Given the description of an element on the screen output the (x, y) to click on. 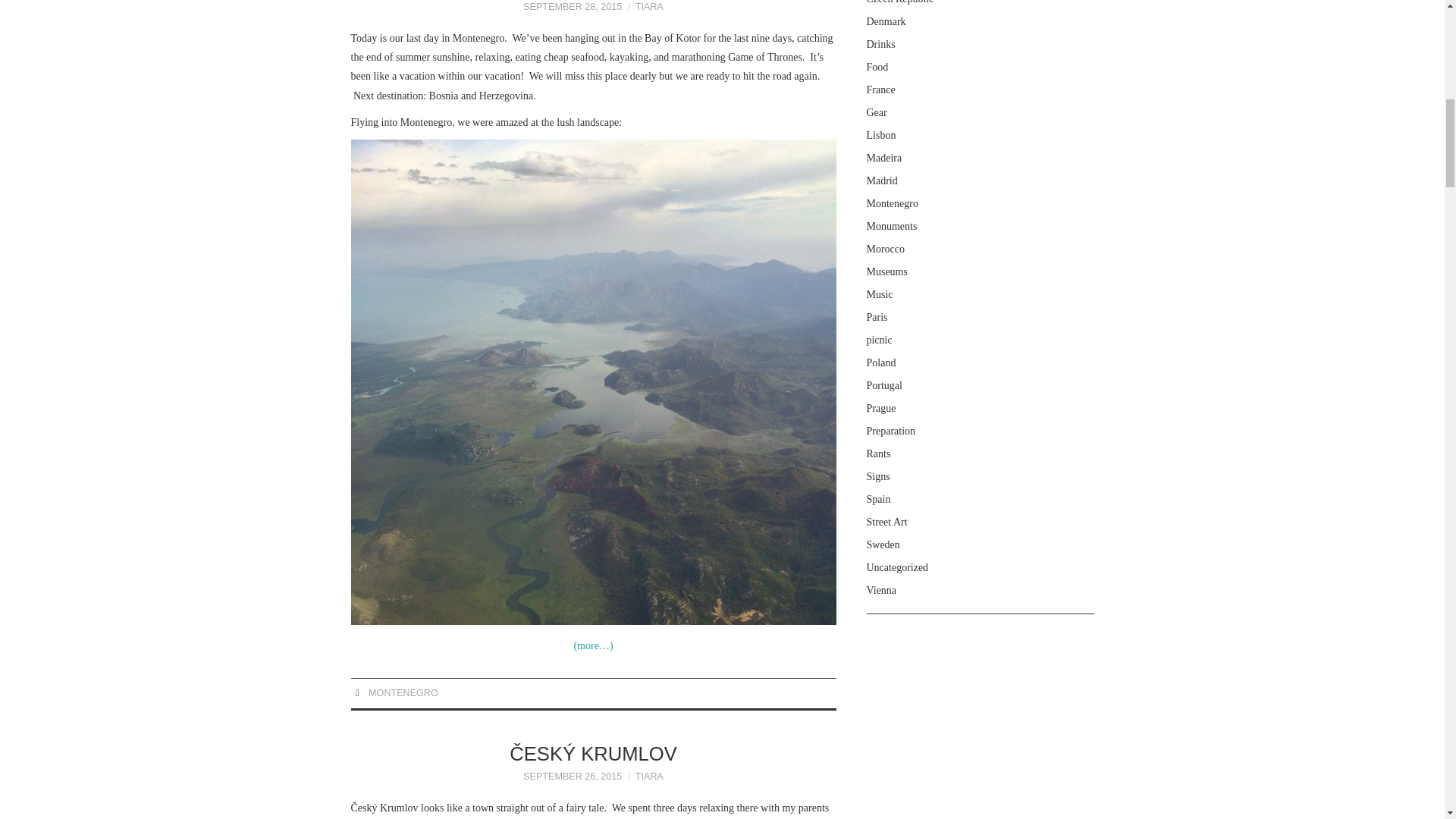
SEPTEMBER 26, 2015 (571, 776)
TIARA (648, 776)
TIARA (648, 6)
MONTENEGRO (403, 692)
SEPTEMBER 28, 2015 (571, 6)
